Given the description of an element on the screen output the (x, y) to click on. 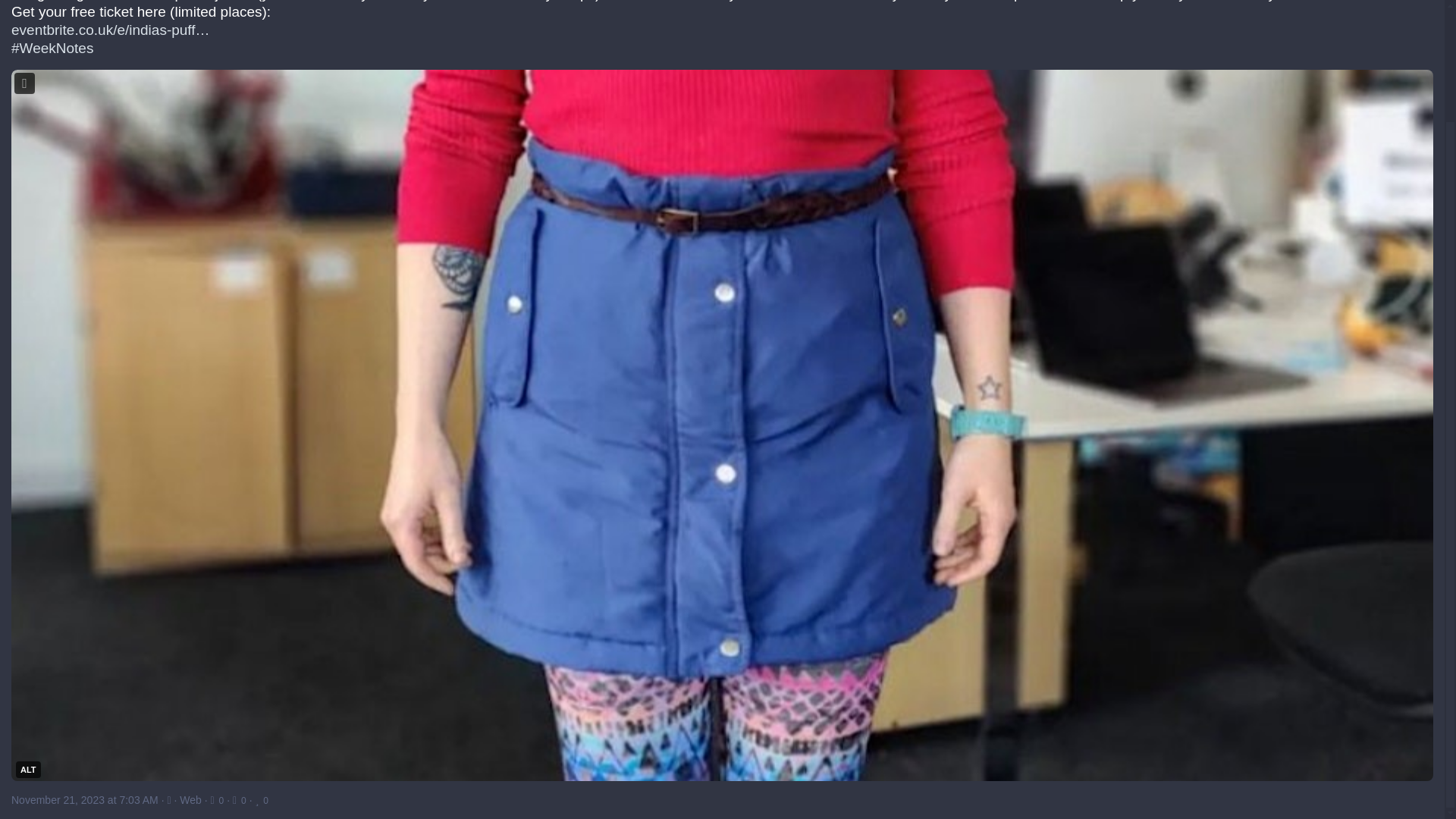
November 21, 2023 at 7:03 AM (84, 799)
Hide image (24, 82)
November 21, 2023 at 7:03 AM (86, 799)
